Given the description of an element on the screen output the (x, y) to click on. 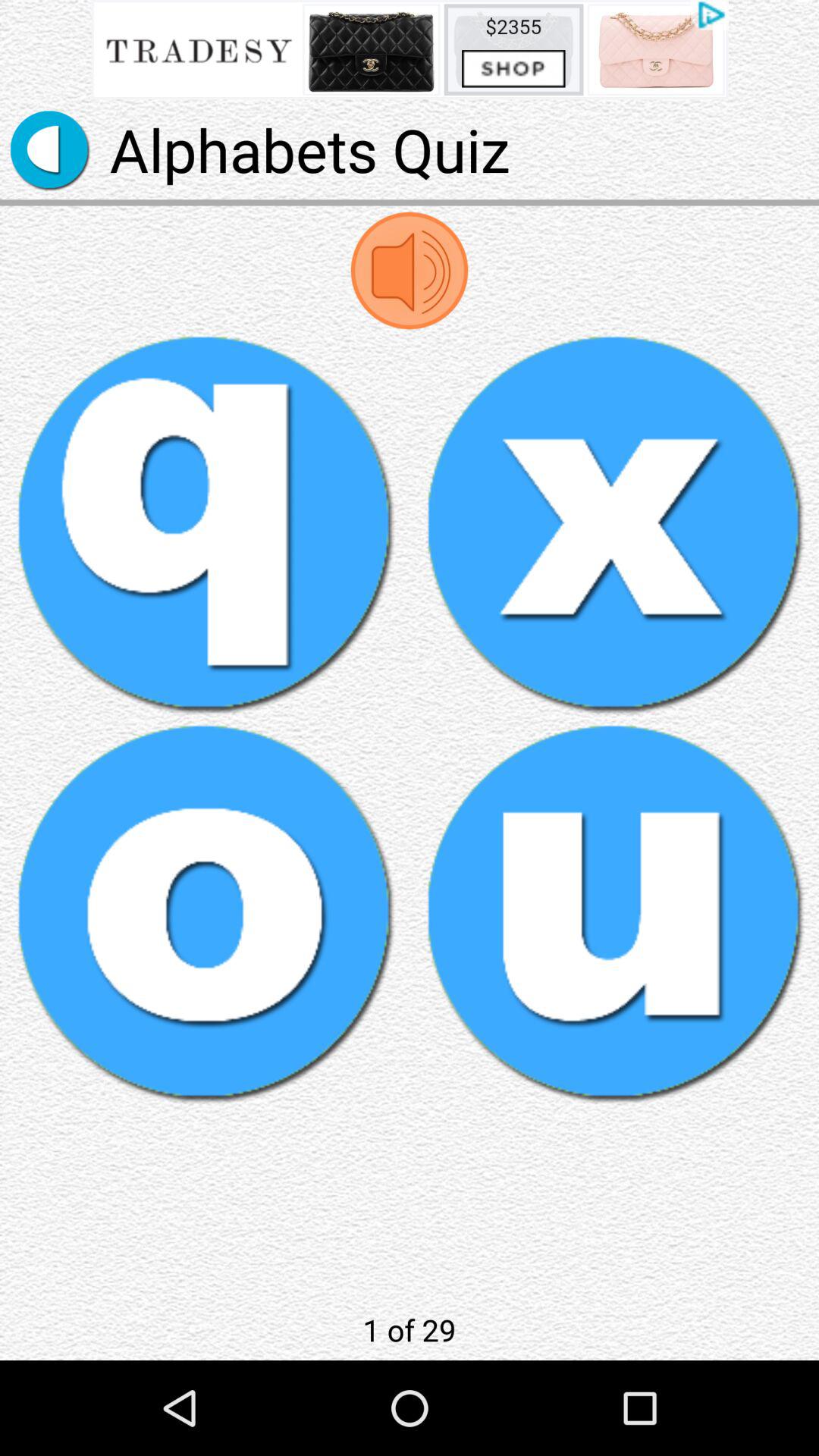
click to o option (204, 912)
